Given the description of an element on the screen output the (x, y) to click on. 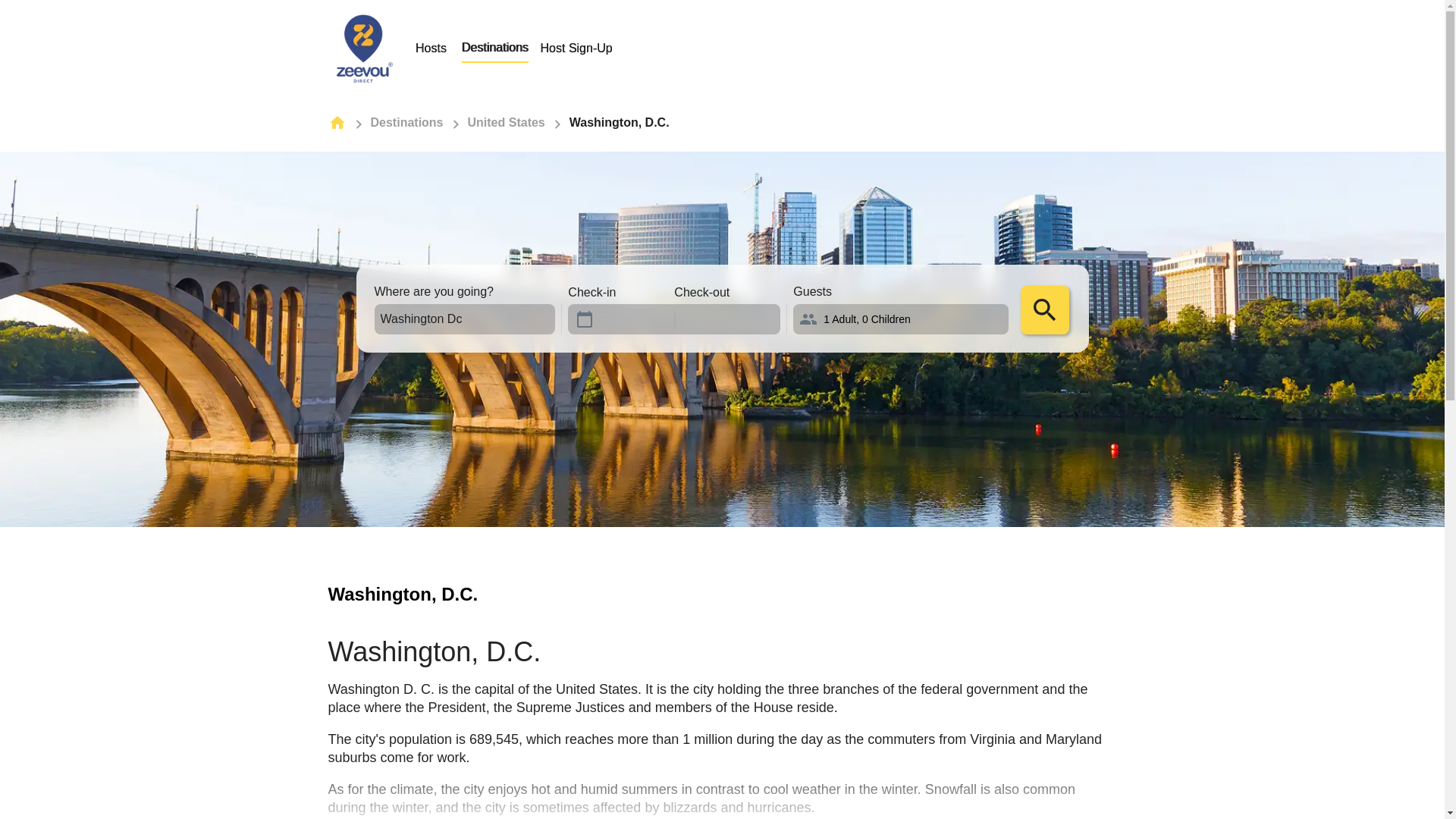
Hosts (430, 48)
Host Sign-Up (576, 48)
Destinations (405, 122)
Washington Dc (451, 318)
Host Sign-Up (576, 48)
Destinations (494, 48)
Hosts (430, 48)
United States (511, 48)
Destinations (505, 122)
